Given the description of an element on the screen output the (x, y) to click on. 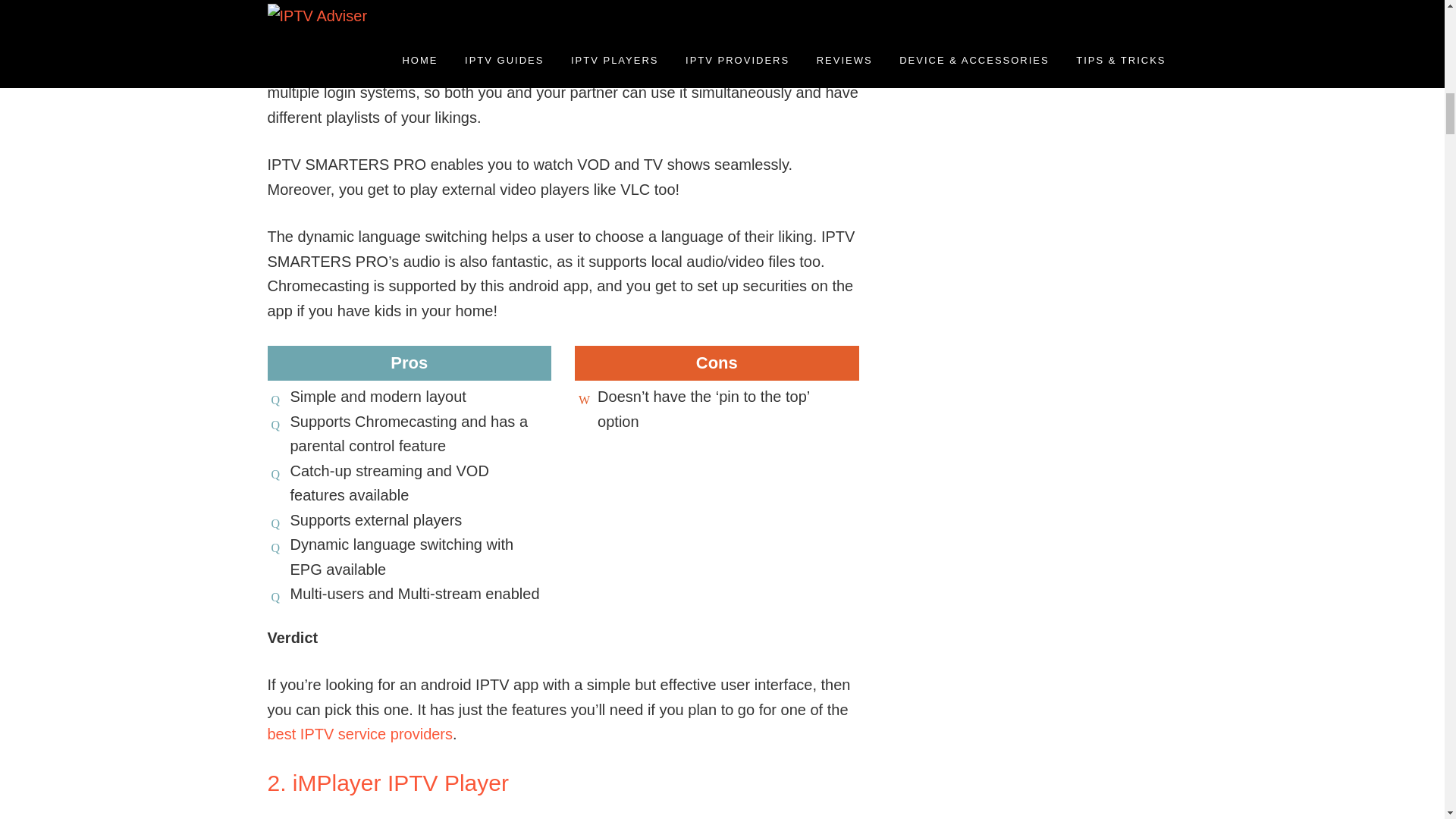
best IPTV service providers (359, 733)
